Given the description of an element on the screen output the (x, y) to click on. 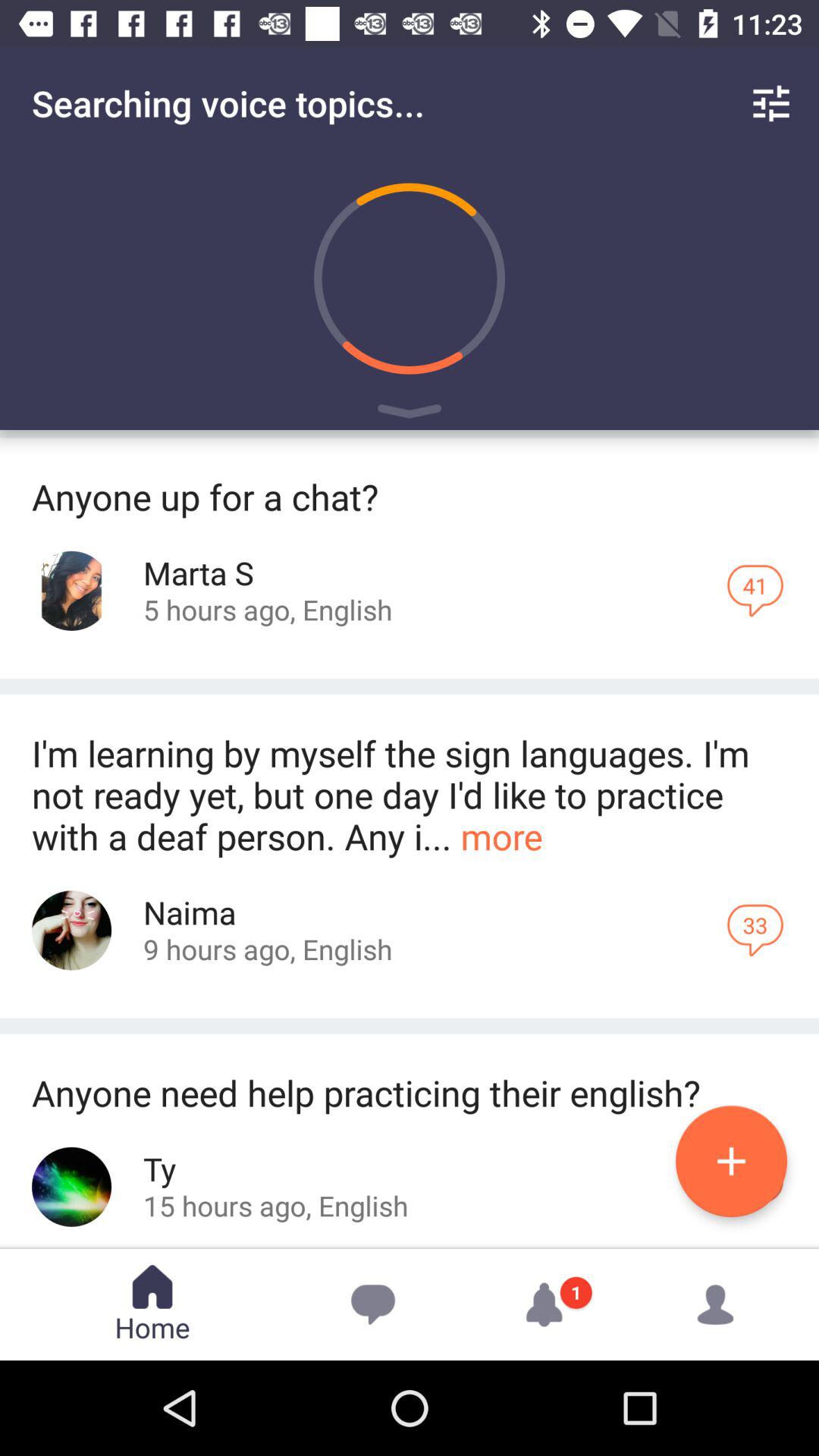
down option (409, 413)
